Given the description of an element on the screen output the (x, y) to click on. 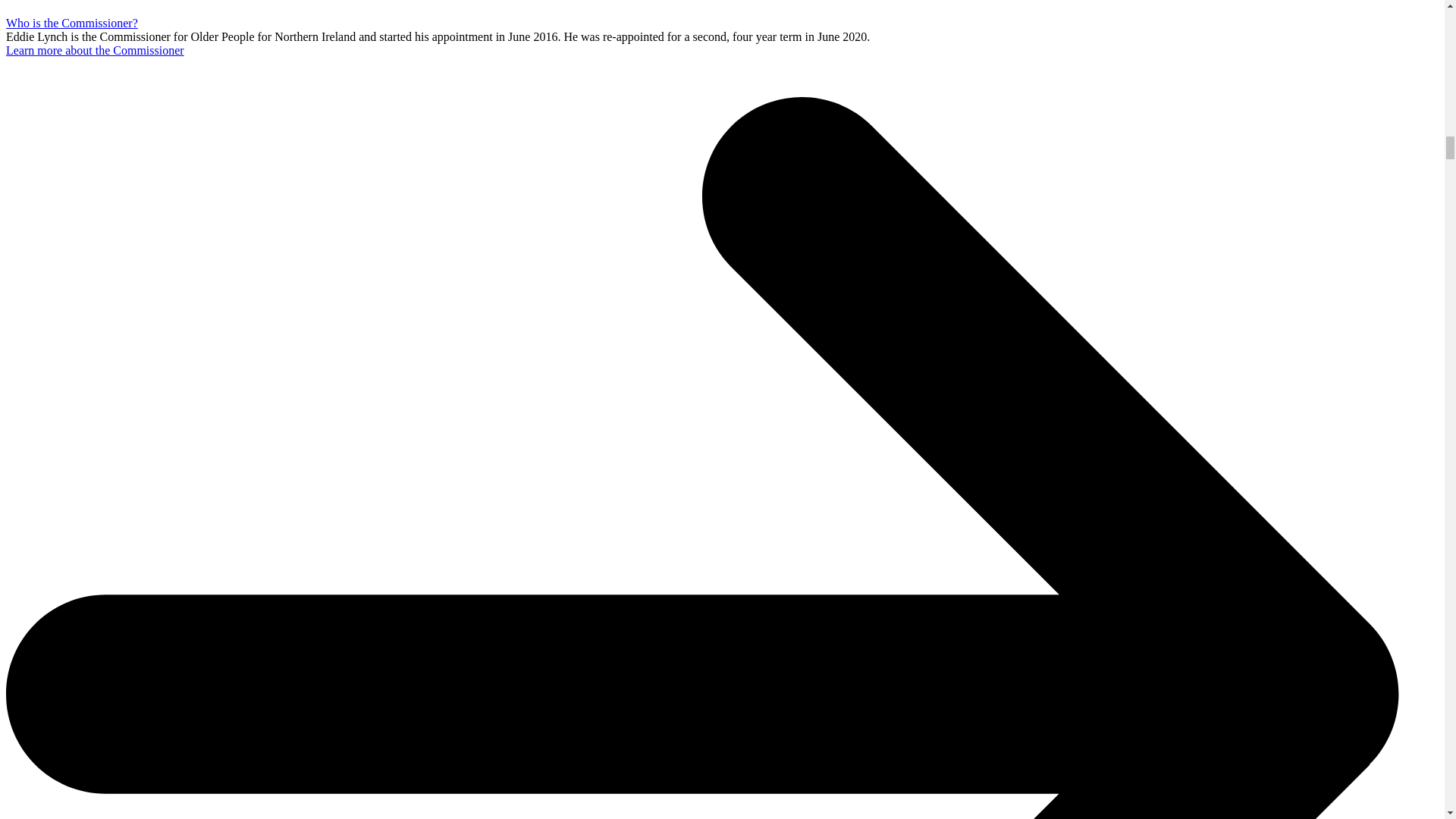
Who is the Commissioner? (71, 22)
